Given the description of an element on the screen output the (x, y) to click on. 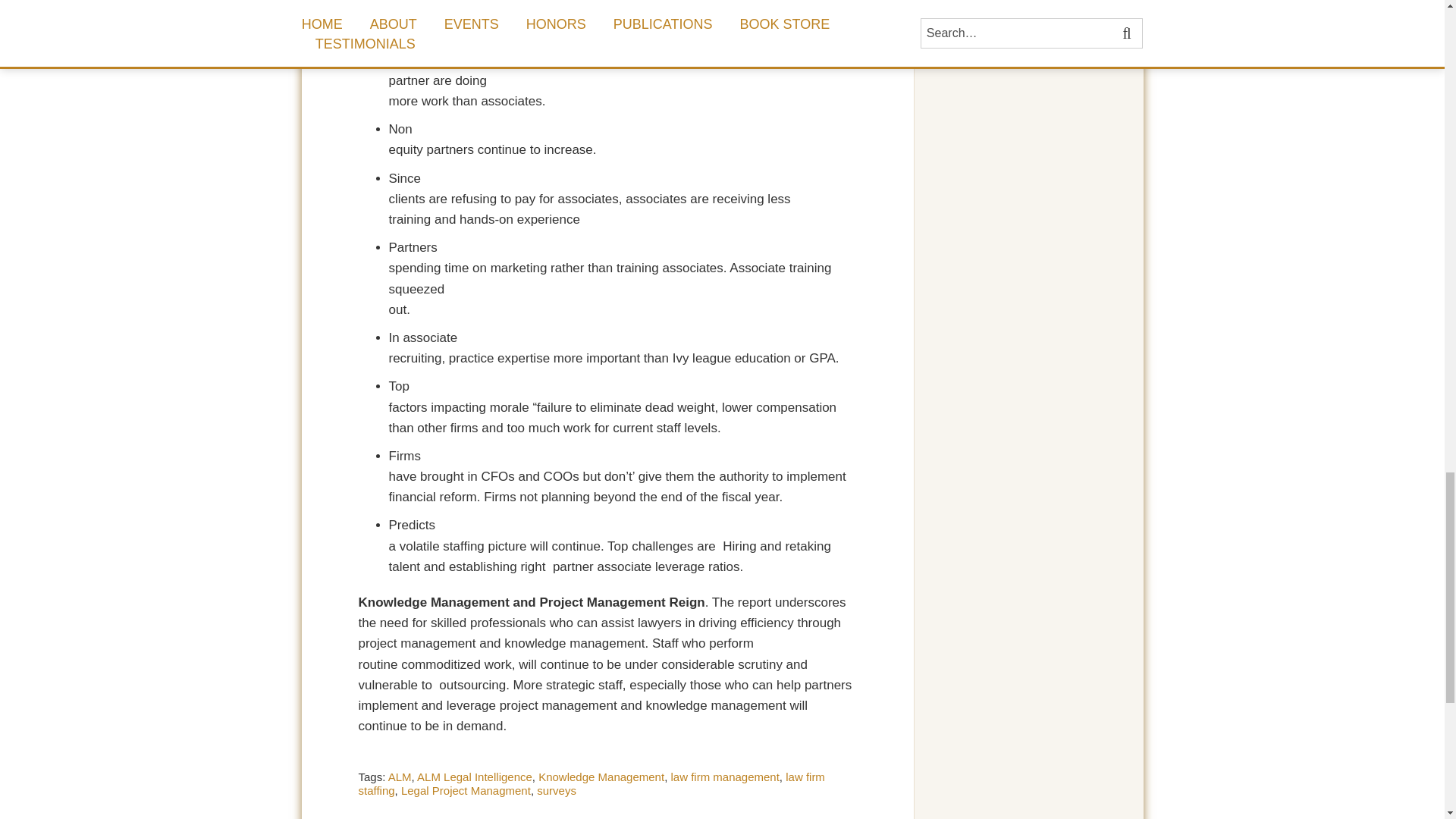
Legal Project Managment (466, 789)
Knowledge Management (600, 776)
ALM (400, 776)
law firm management (723, 776)
ALM Legal Intelligence (474, 776)
surveys (556, 789)
law firm staffing (591, 783)
